Given the description of an element on the screen output the (x, y) to click on. 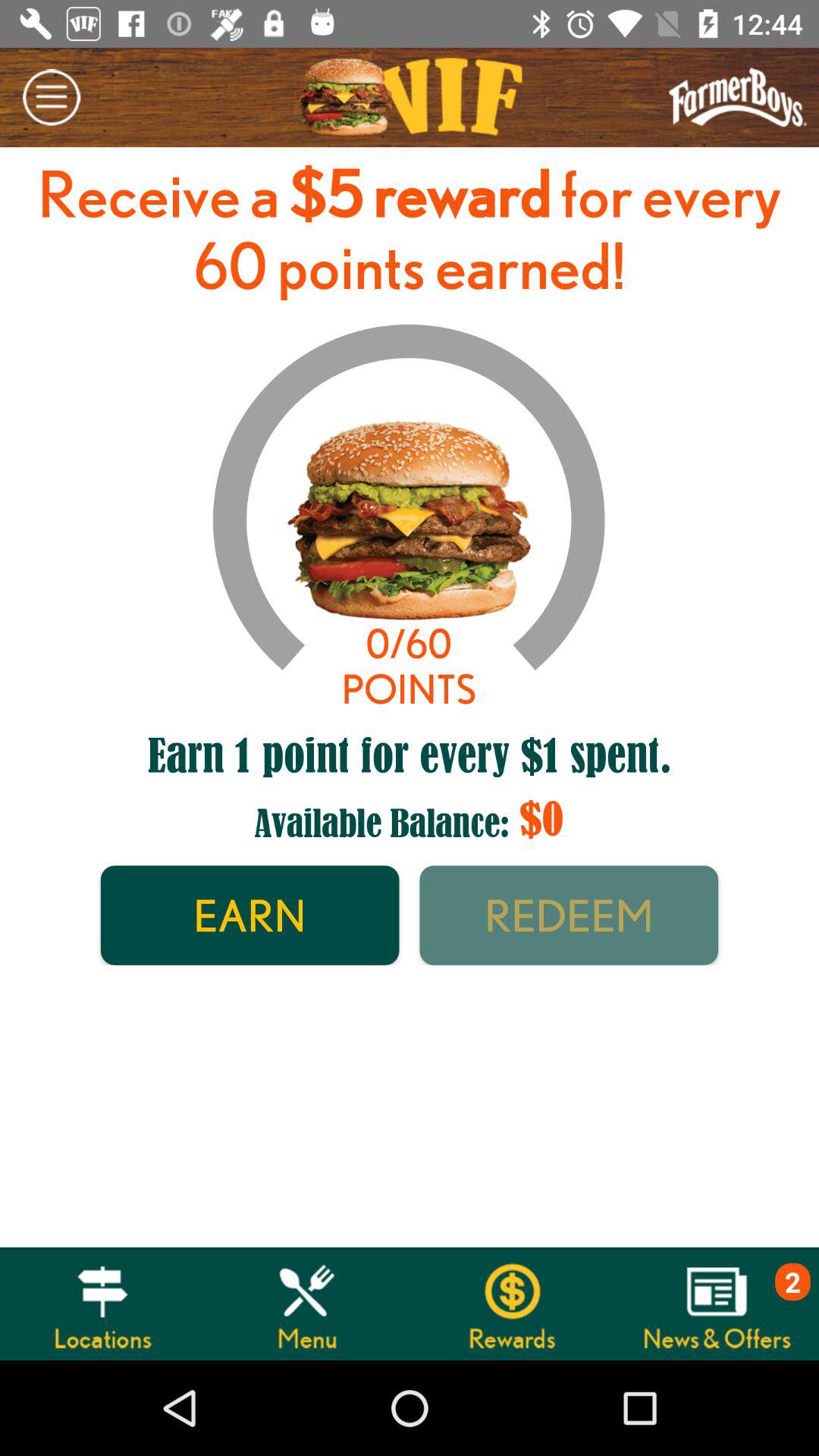
scroll until redeem item (568, 915)
